Given the description of an element on the screen output the (x, y) to click on. 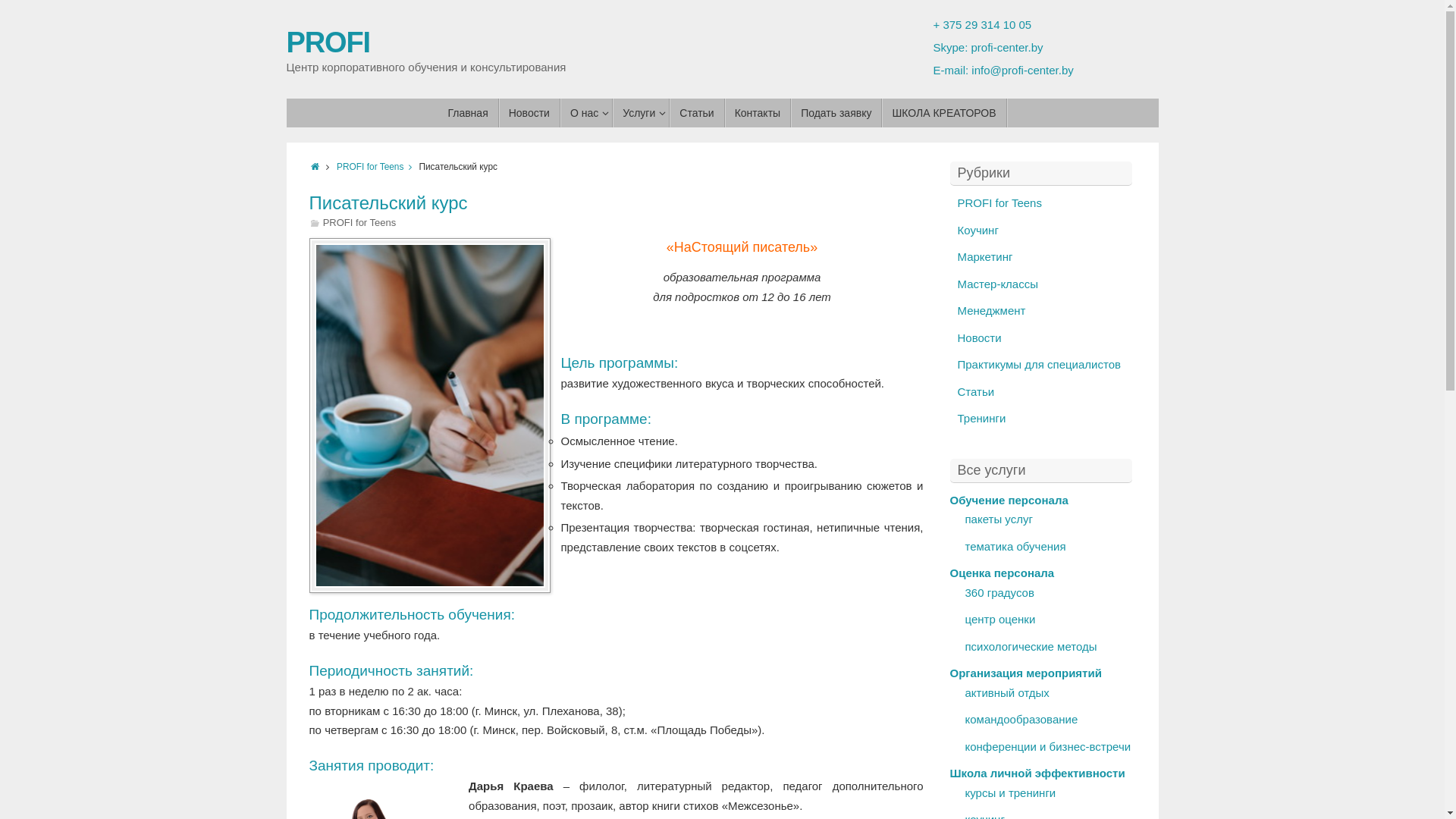
PROFI for Teens Element type: text (359, 222)
PROFI for Teens Element type: text (999, 202)
info@profi-center.by Element type: text (1022, 69)
PROFI Element type: text (328, 42)
PROFI for Teens Element type: text (377, 166)
